Given the description of an element on the screen output the (x, y) to click on. 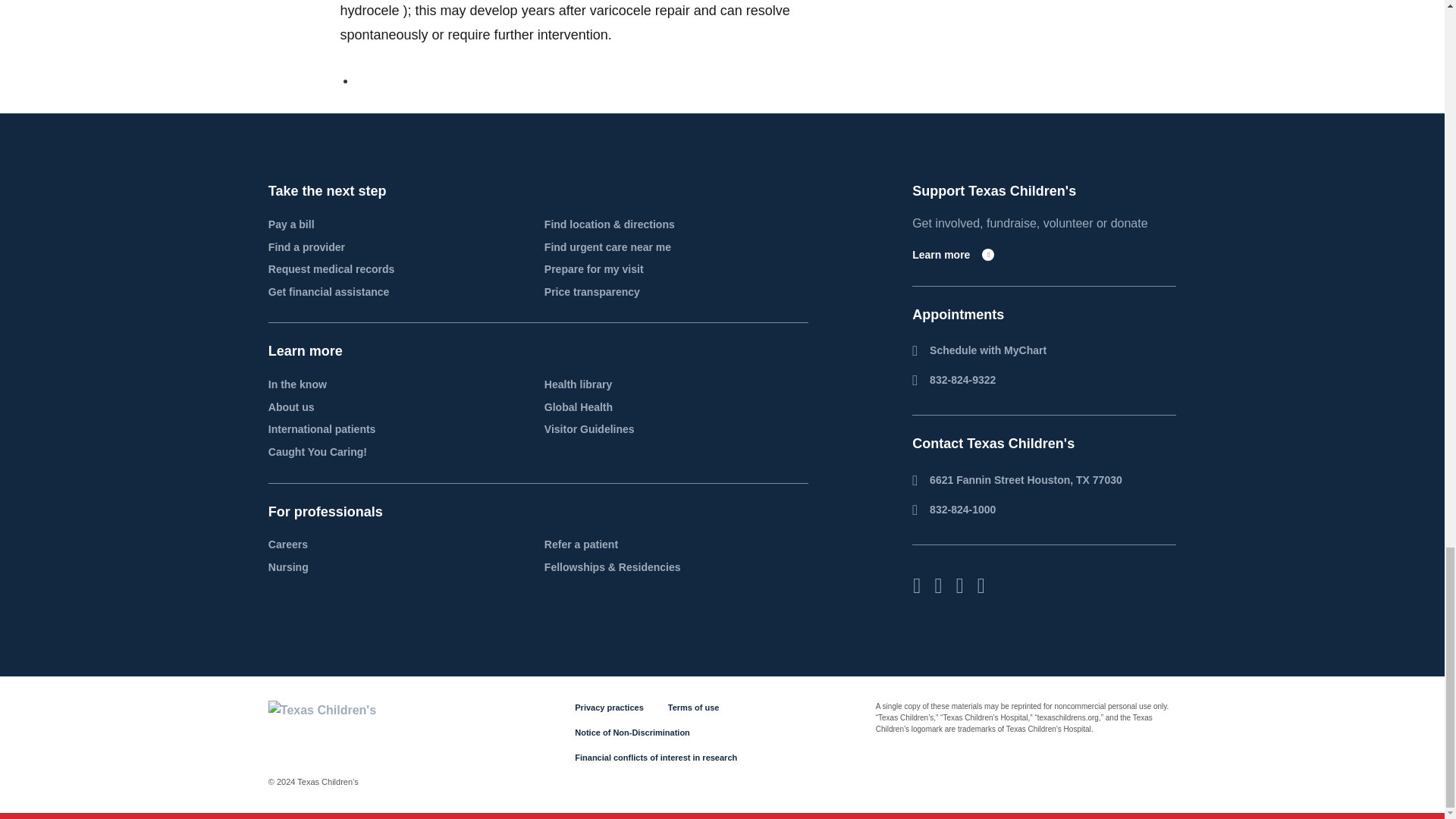
Notice of Non-Discrimination (632, 732)
Terms of use (693, 706)
Privacy practices (609, 706)
Financial conflicts of interest in research (655, 757)
